Given the description of an element on the screen output the (x, y) to click on. 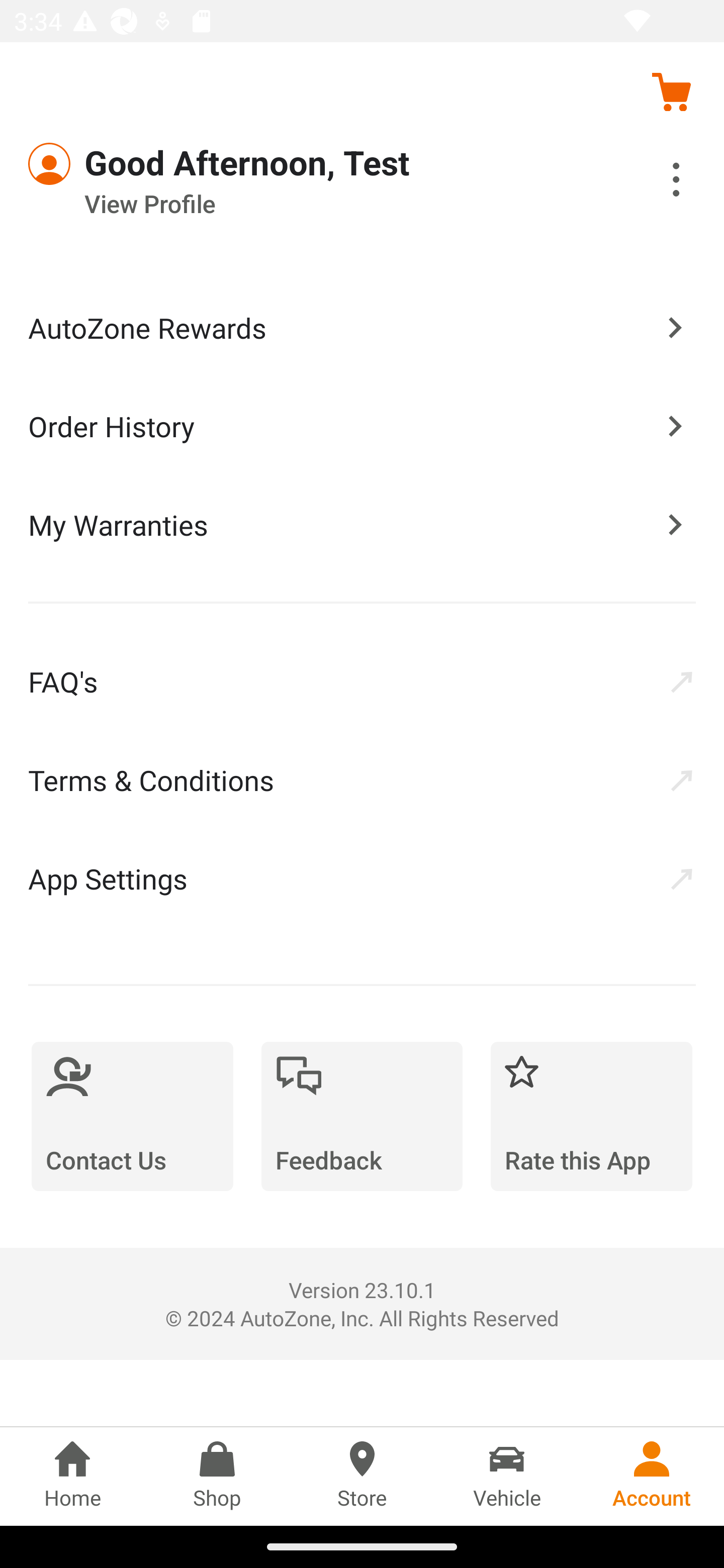
Cart, no items  (670, 91)
Good  (100, 163)
︙ (654, 182)
View Profile (306, 203)
AutoZone Rewards  (361, 327)
Order History  (361, 425)
My Warranties  (361, 524)
FAQ's  (361, 680)
Terms & Conditions  (361, 779)
App Settings  (361, 878)
Contact Us (132, 1116)
Feedback (361, 1116)
Rate this App (591, 1116)
Home (72, 1475)
Shop (216, 1475)
Store (361, 1475)
Vehicle (506, 1475)
Account (651, 1475)
